Given the description of an element on the screen output the (x, y) to click on. 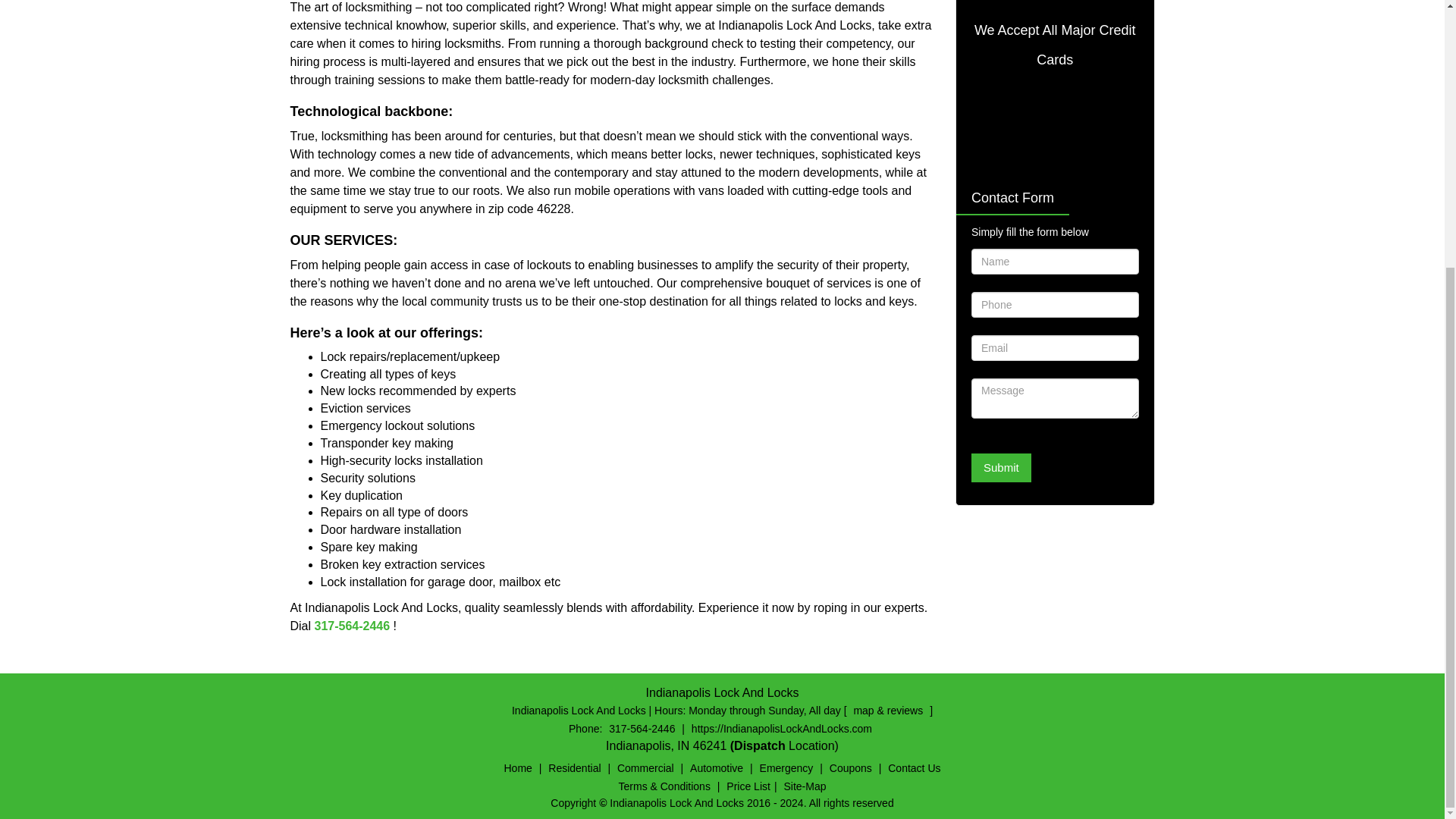
Name Field required (1054, 261)
Email Field required (1054, 347)
Submit (1000, 467)
Message Field require (1054, 397)
Submit (1000, 467)
317-564-2446 (352, 625)
Phone Field required (1054, 304)
317-564-2446 (641, 728)
Home (517, 767)
